Given the description of an element on the screen output the (x, y) to click on. 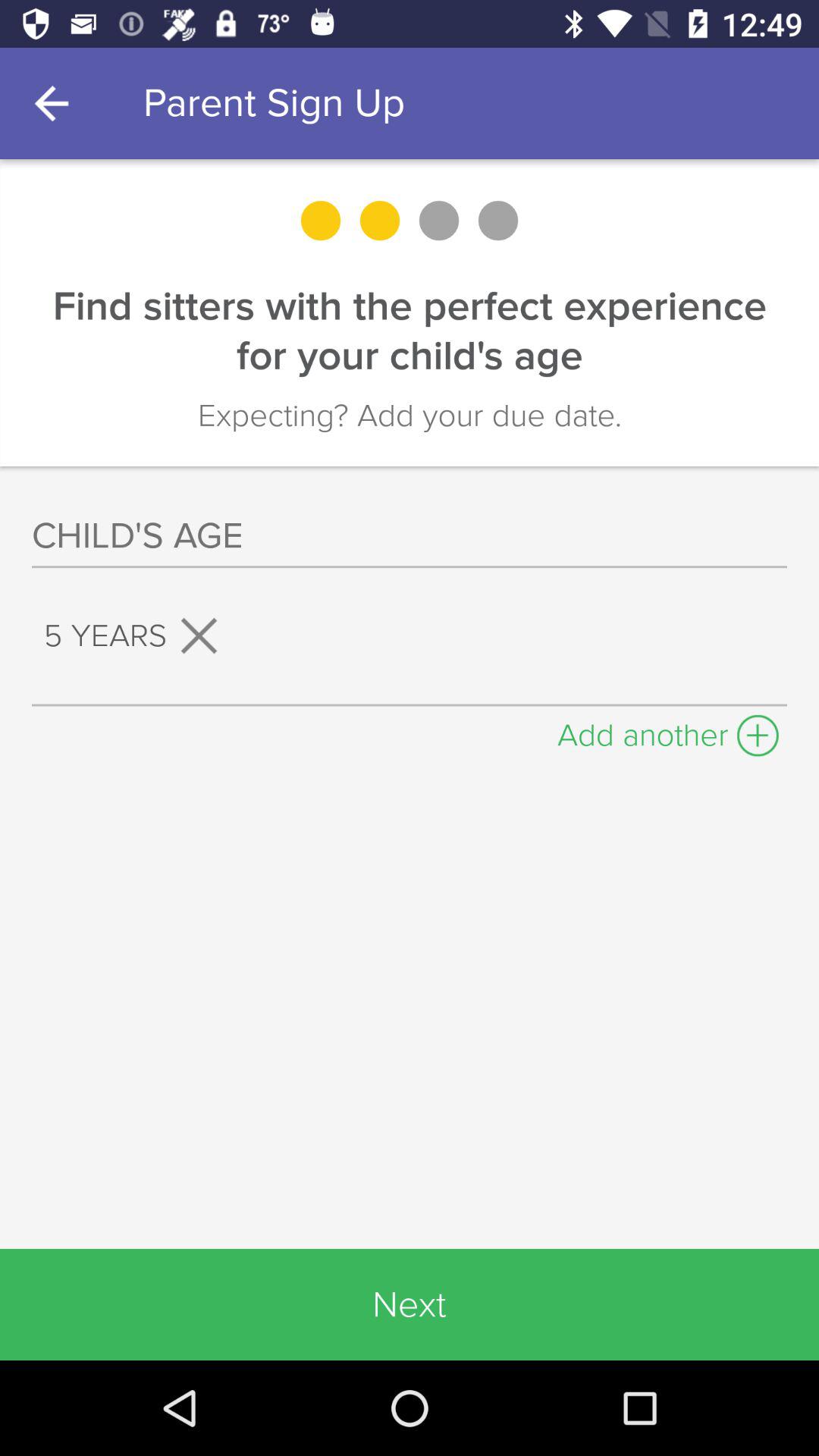
turn off icon next to the parent sign up (55, 103)
